Given the description of an element on the screen output the (x, y) to click on. 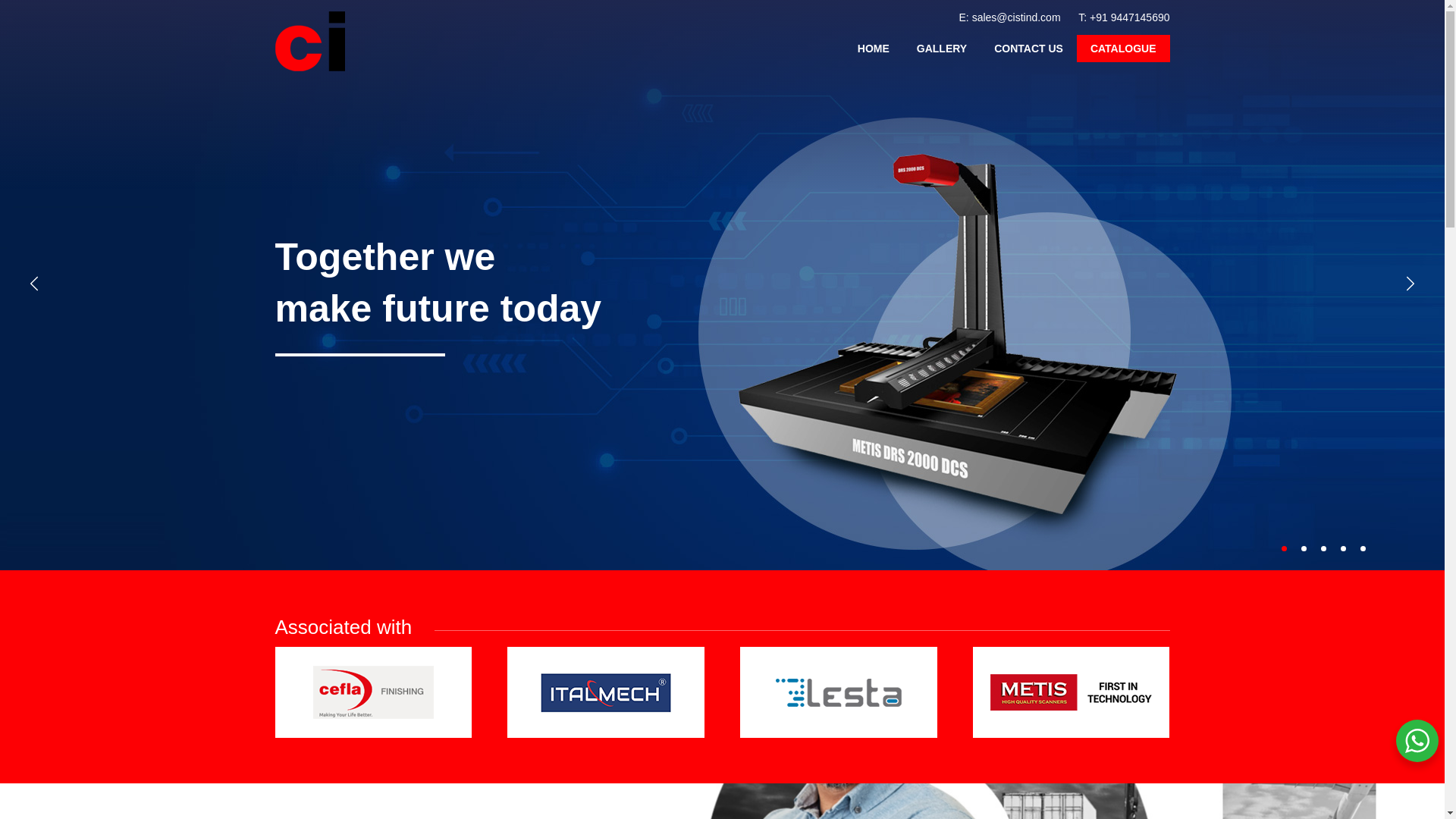
CATALOGUE (1123, 48)
HOME (873, 48)
CONTACT US (1028, 48)
GALLERY (940, 48)
